Given the description of an element on the screen output the (x, y) to click on. 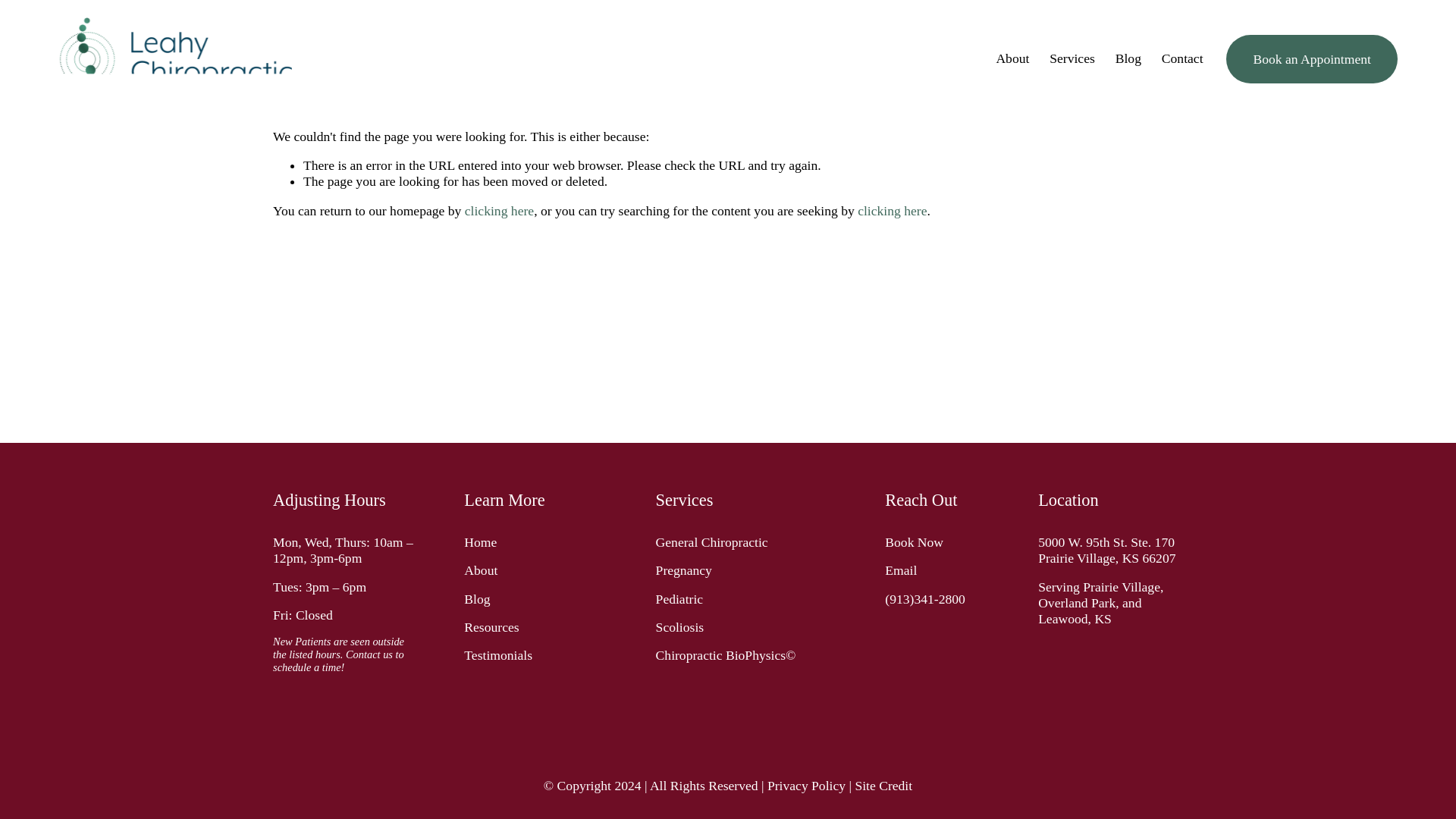
Book an Appointment (1311, 58)
Contact (1182, 58)
Blog (476, 599)
Home (480, 542)
About (1012, 58)
Blog (1128, 58)
About (480, 570)
clicking here (891, 210)
Resources (491, 627)
Services (1071, 58)
